Given the description of an element on the screen output the (x, y) to click on. 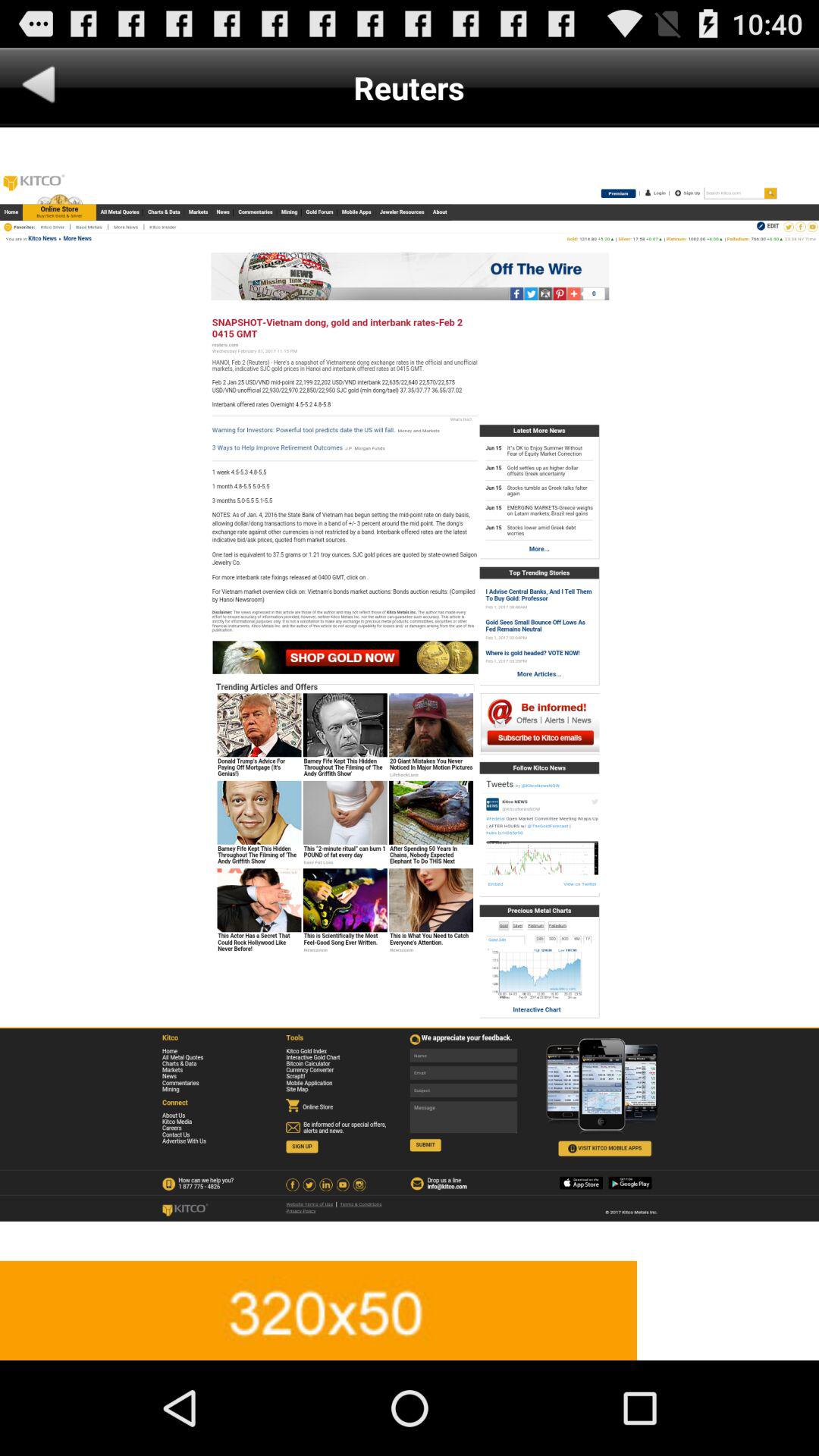
banner (409, 1310)
